Given the description of an element on the screen output the (x, y) to click on. 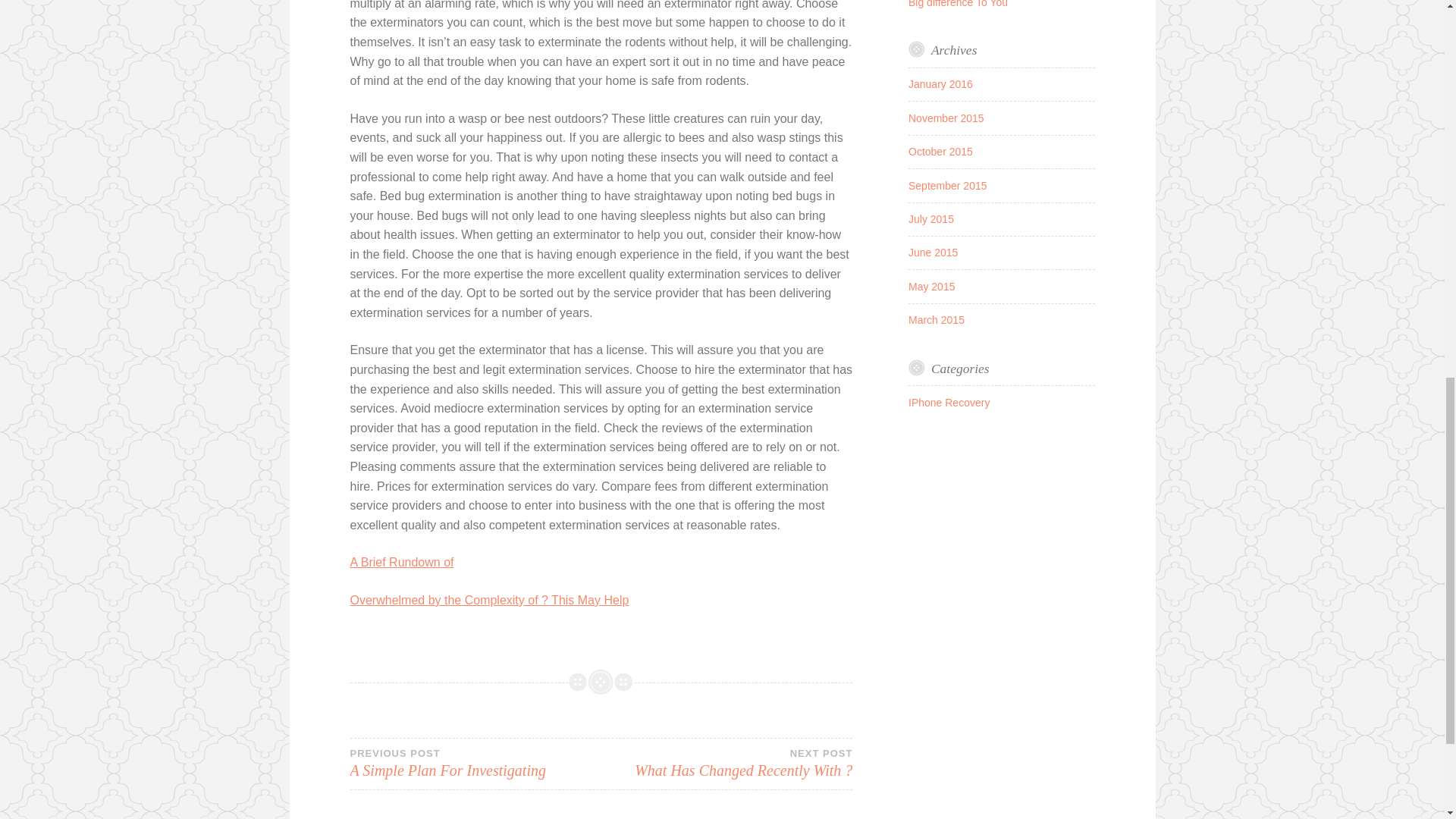
June 2015 (933, 252)
November 2015 (946, 118)
IPhone Recovery (949, 402)
Overwhelmed by the Complexity of ? This May Help (489, 599)
September 2015 (475, 762)
March 2015 (947, 185)
The Iphone And How It Can Make A Big difference To You (935, 319)
A Brief Rundown of (992, 3)
July 2015 (402, 562)
October 2015 (930, 218)
May 2015 (726, 762)
January 2016 (940, 151)
